Given the description of an element on the screen output the (x, y) to click on. 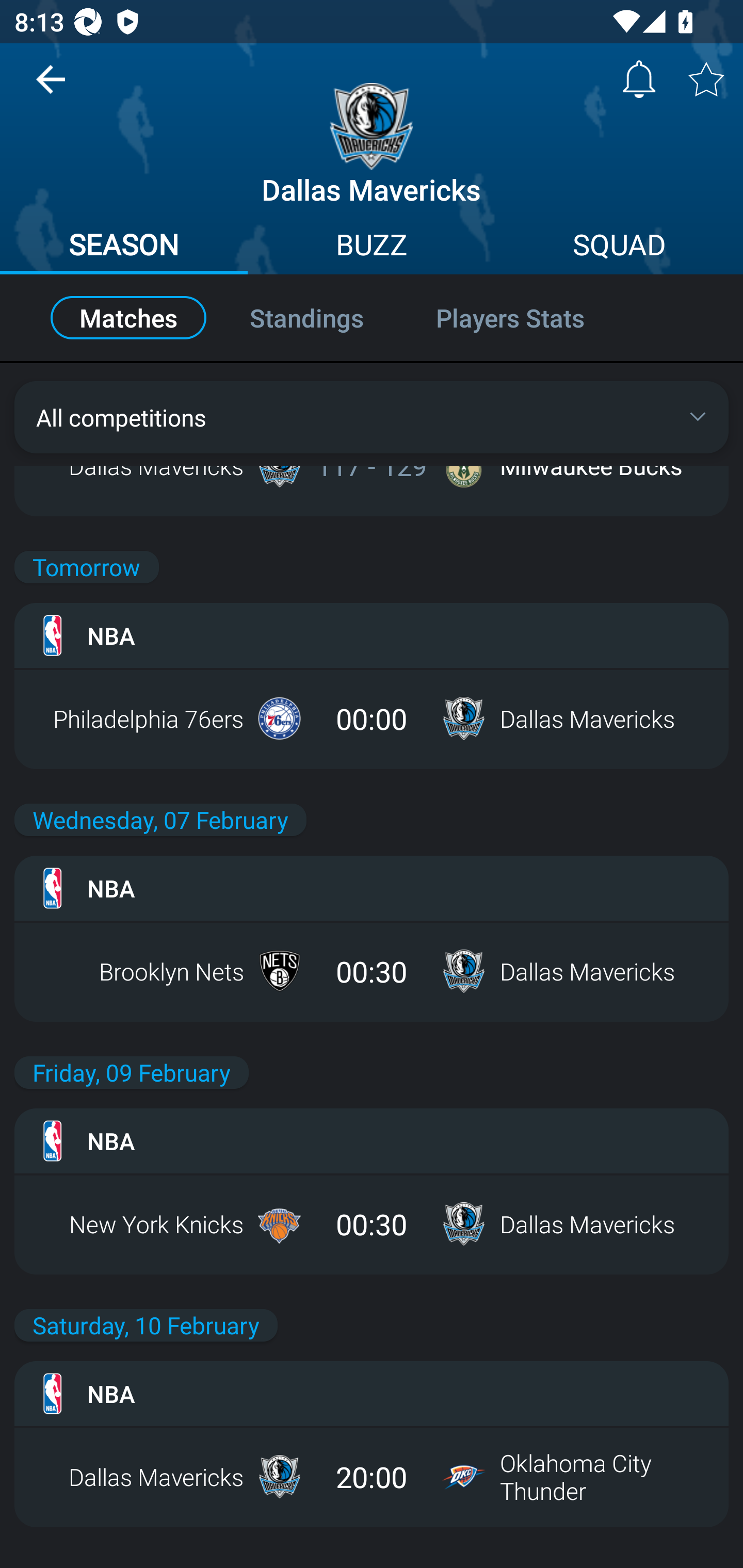
Navigate up (50, 86)
SEASON (123, 246)
BUZZ (371, 246)
SQUAD (619, 246)
Standings (306, 317)
Players Stats (531, 317)
All competitions (371, 417)
NBA (371, 635)
Philadelphia 76ers 00:00 Dallas Mavericks (371, 717)
NBA (371, 888)
Brooklyn Nets 00:30 Dallas Mavericks (371, 971)
NBA (371, 1140)
New York Knicks 00:30 Dallas Mavericks (371, 1223)
NBA (371, 1393)
Dallas Mavericks 20:00 Oklahoma City Thunder (371, 1476)
